Given the description of an element on the screen output the (x, y) to click on. 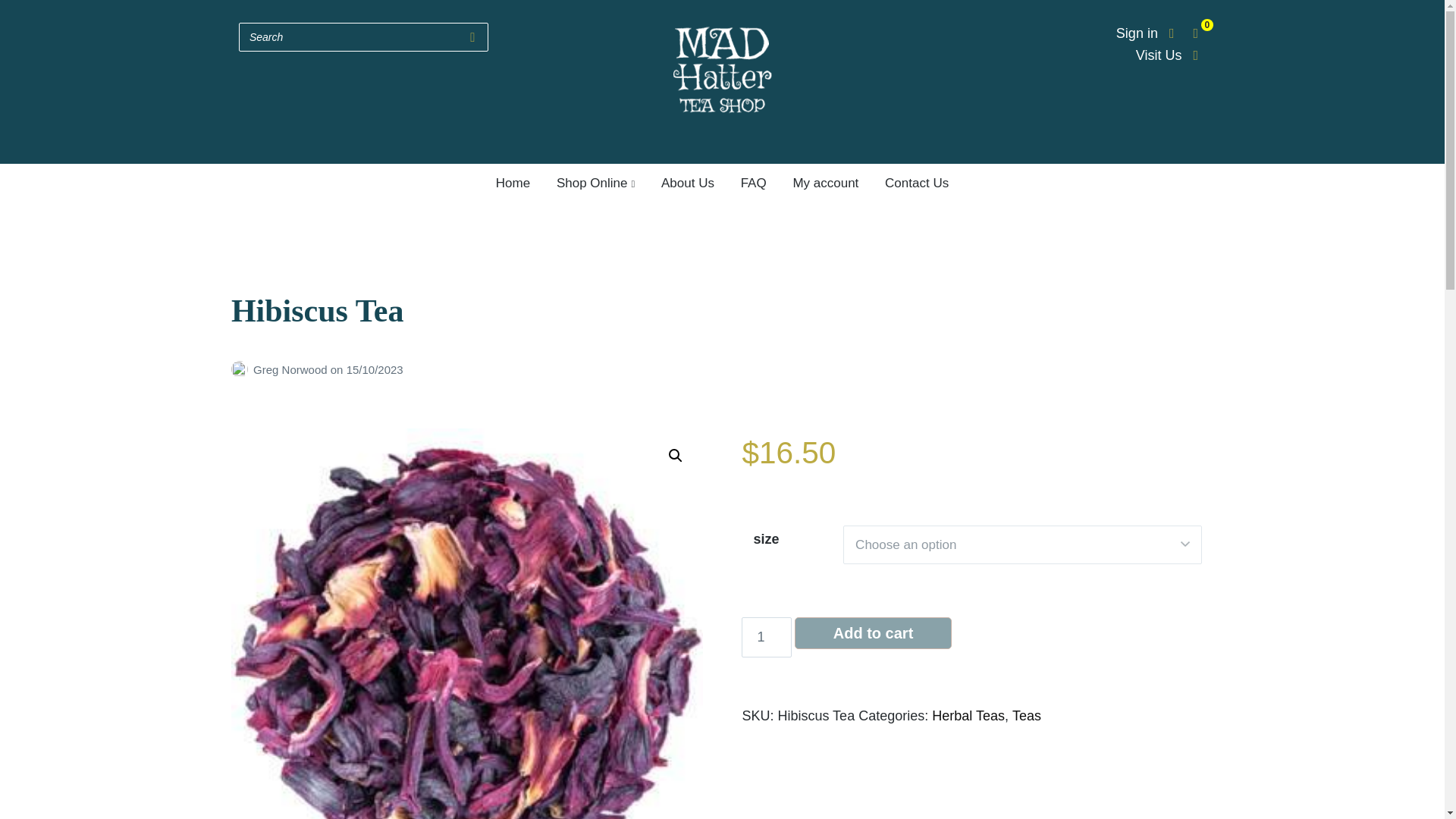
1 (765, 637)
Posts by Greg Norwood (242, 369)
Mad Hatter Tea Shop (722, 167)
